Given the description of an element on the screen output the (x, y) to click on. 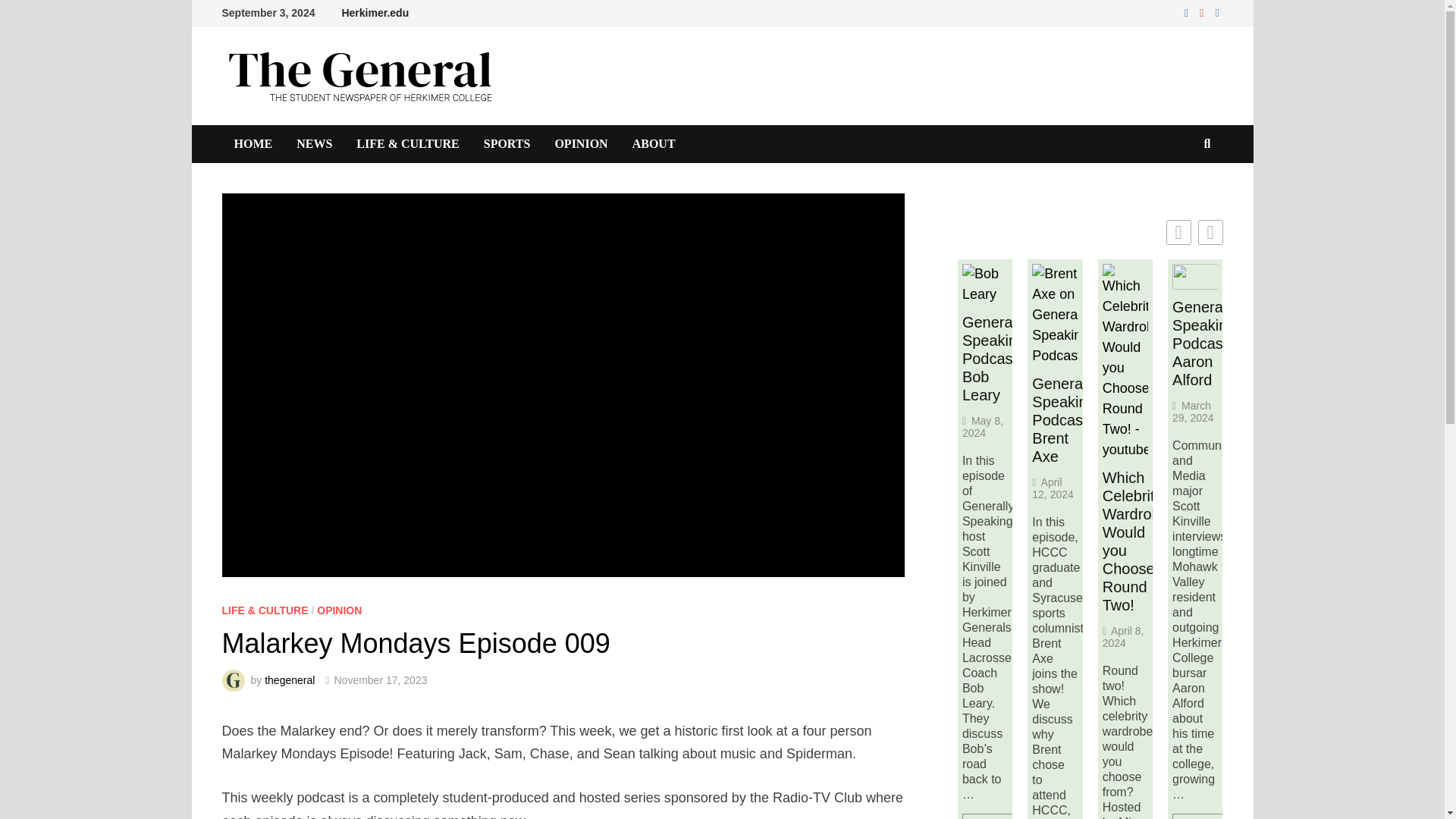
NEWS (313, 143)
OPINION (580, 143)
HOME (252, 143)
ABOUT (653, 143)
thegeneral (289, 679)
Herkimer.edu (374, 13)
Facebook (1187, 11)
Youtube (1203, 11)
OPINION (339, 610)
